Given the description of an element on the screen output the (x, y) to click on. 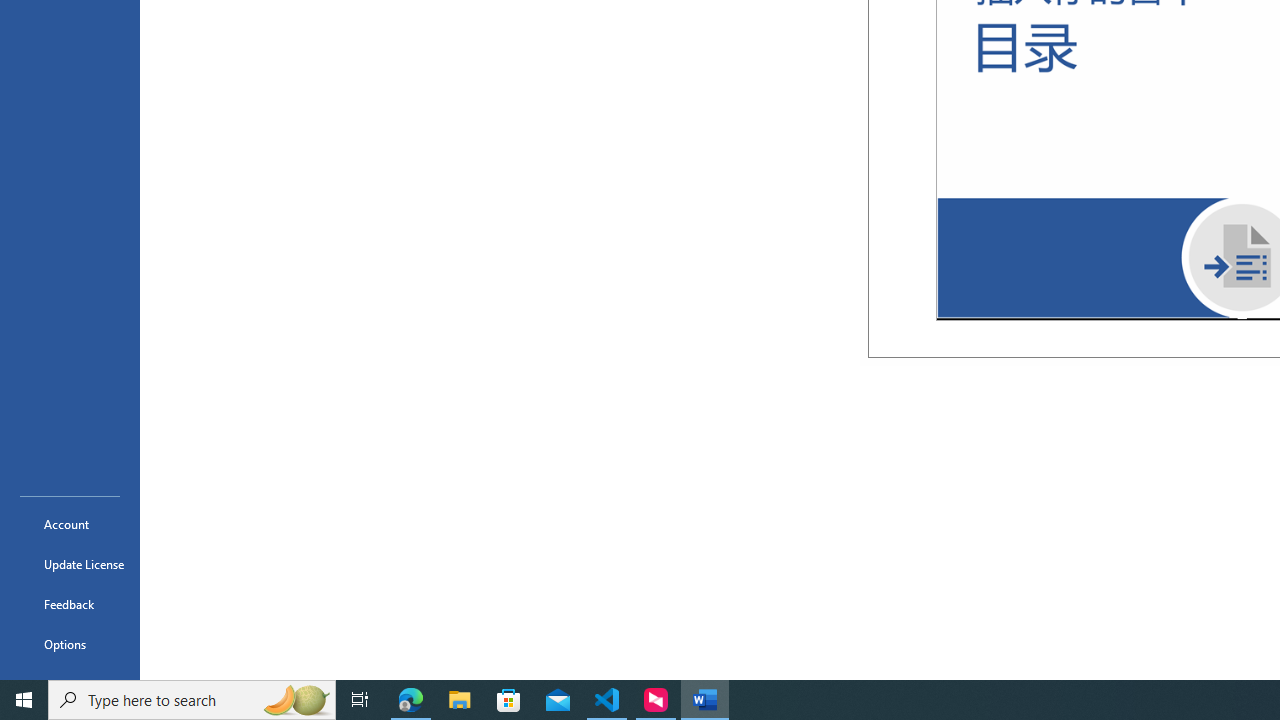
Feedback (69, 603)
Account (69, 523)
Update License (69, 563)
Options (69, 643)
